Given the description of an element on the screen output the (x, y) to click on. 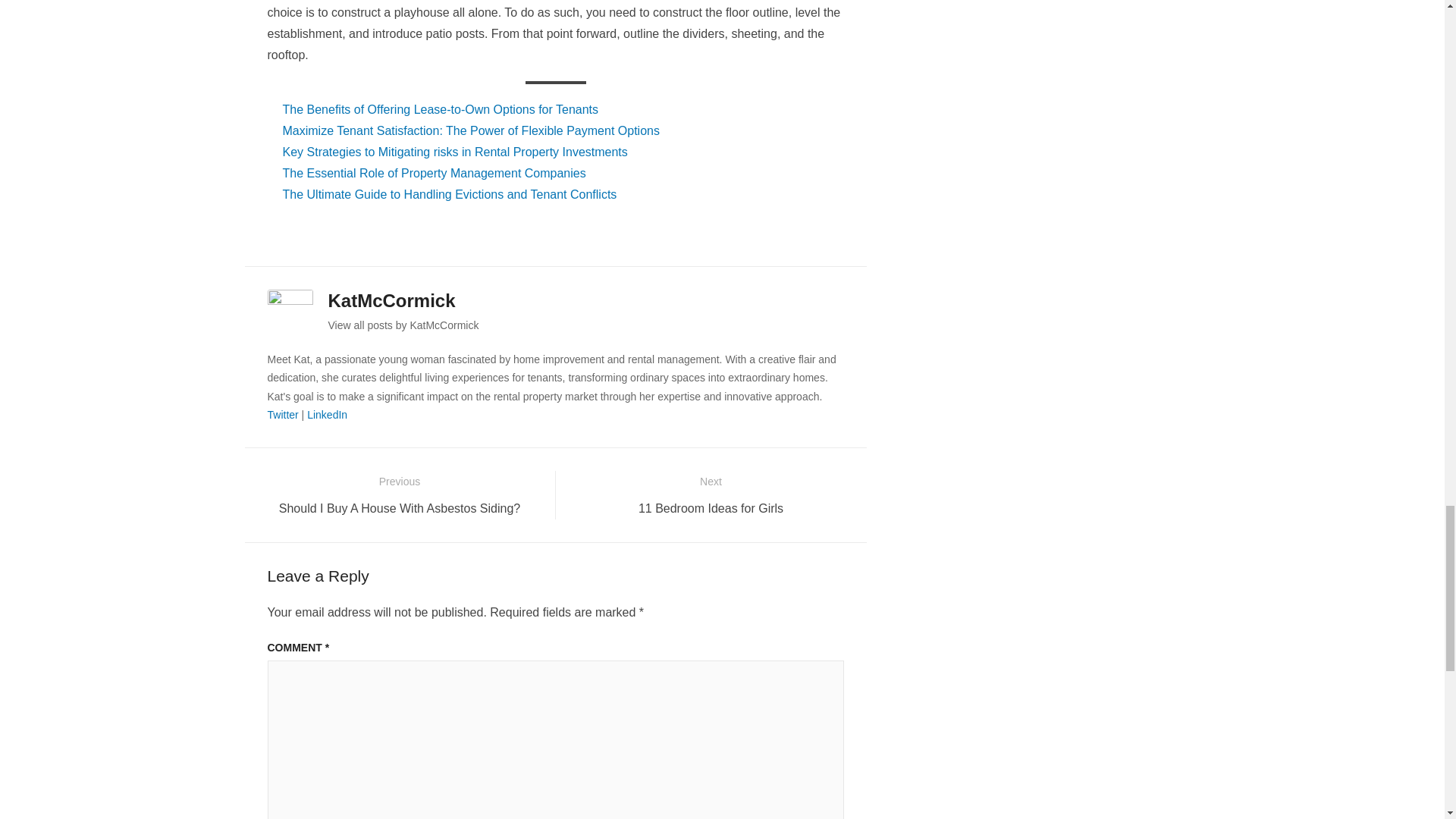
View all posts by KatMcCormick (403, 325)
The Essential Role of Property Management Companies (433, 173)
LinkedIn (327, 414)
The Benefits of Offering Lease-to-Own Options for Tenants (440, 109)
Twitter (282, 414)
